Given the description of an element on the screen output the (x, y) to click on. 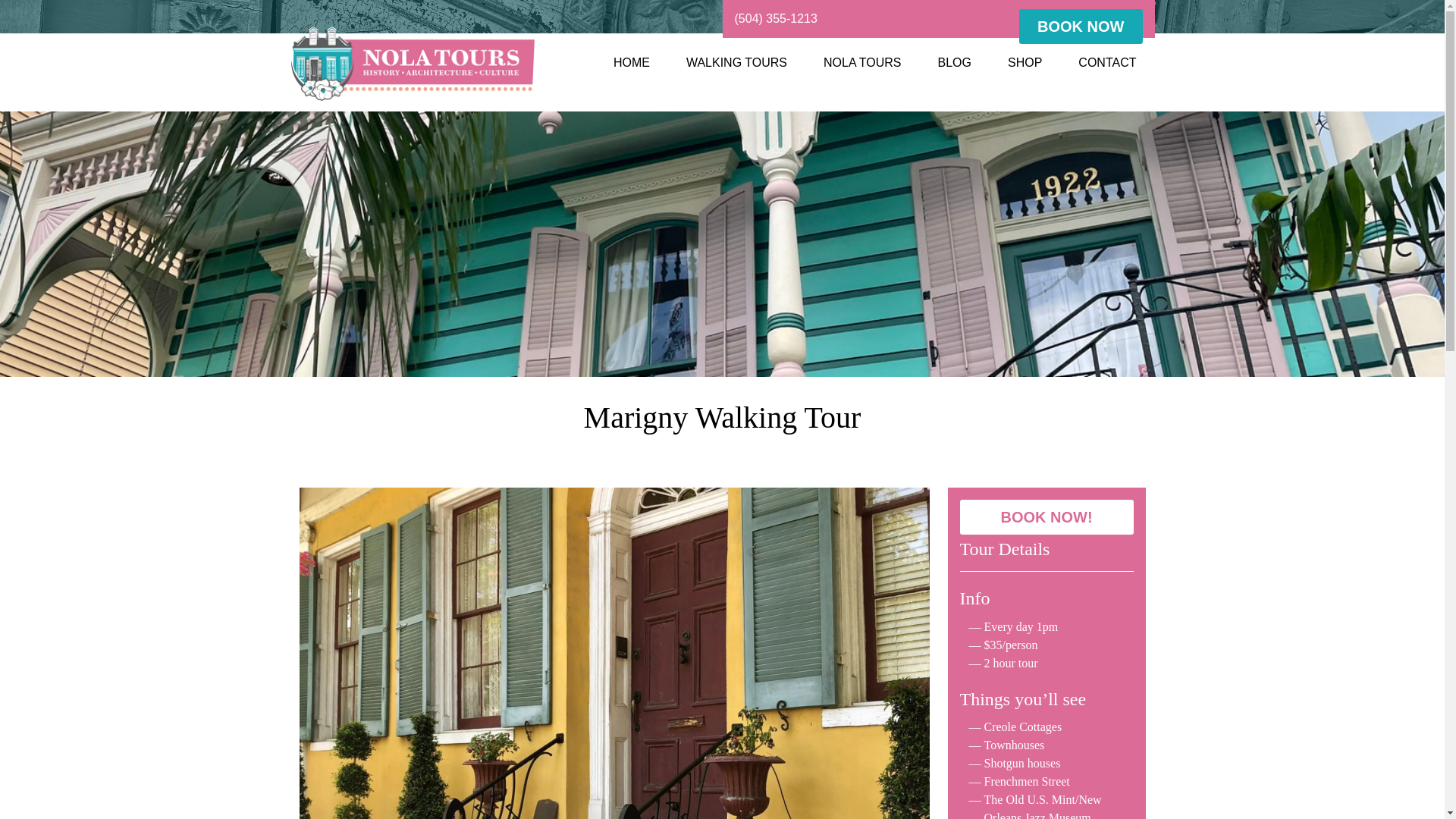
NOLA TOURS (862, 62)
BLOG (955, 62)
NOLA TOURS (411, 63)
WALKING TOURS (736, 62)
HOME (631, 62)
CONTACT (1106, 62)
BOOK NOW (1080, 26)
SHOP (1024, 62)
